Given the description of an element on the screen output the (x, y) to click on. 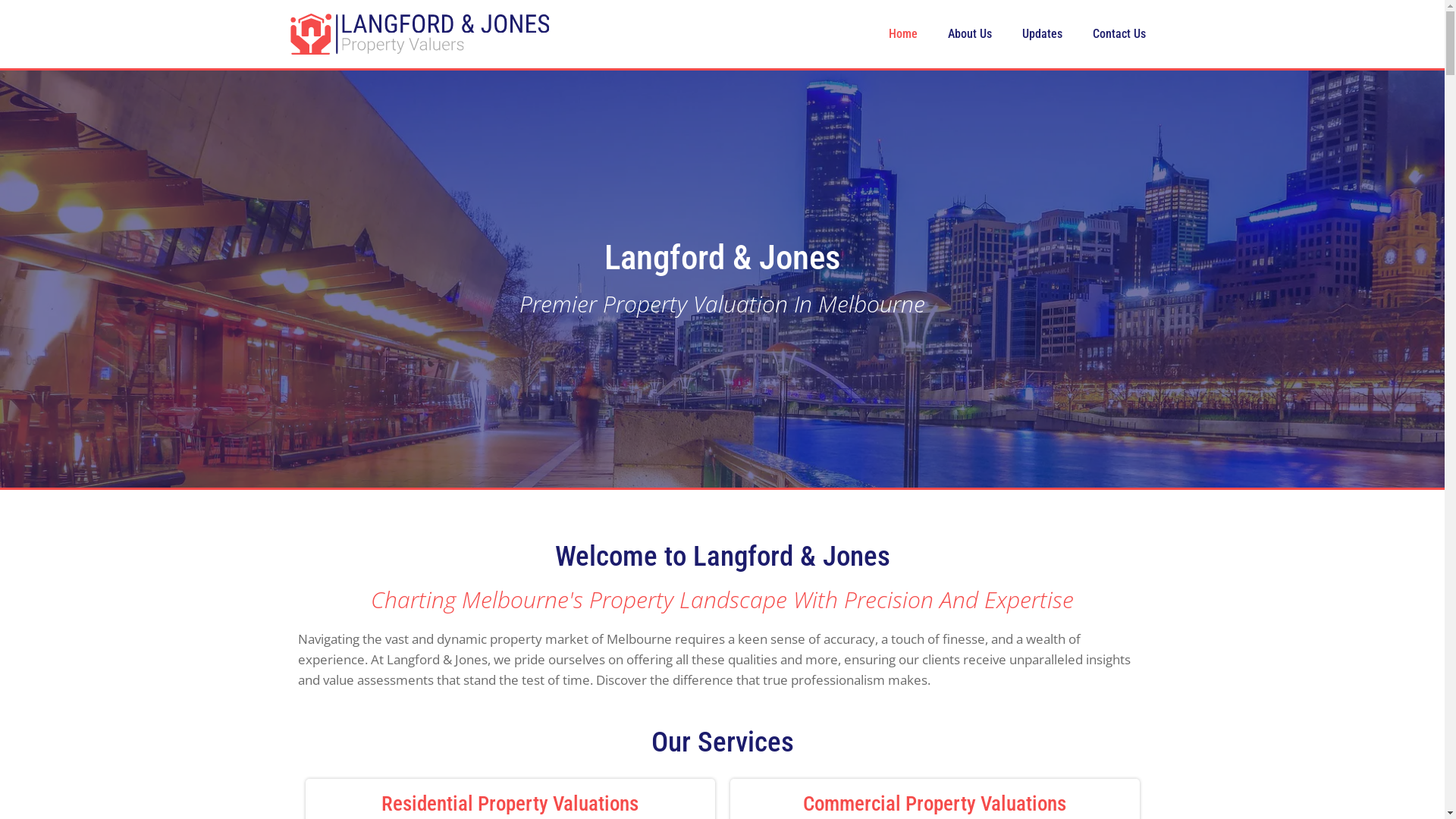
Contact Us Element type: text (1119, 33)
Updates Element type: text (1042, 33)
About Us Element type: text (969, 33)
Home Element type: text (903, 33)
